Given the description of an element on the screen output the (x, y) to click on. 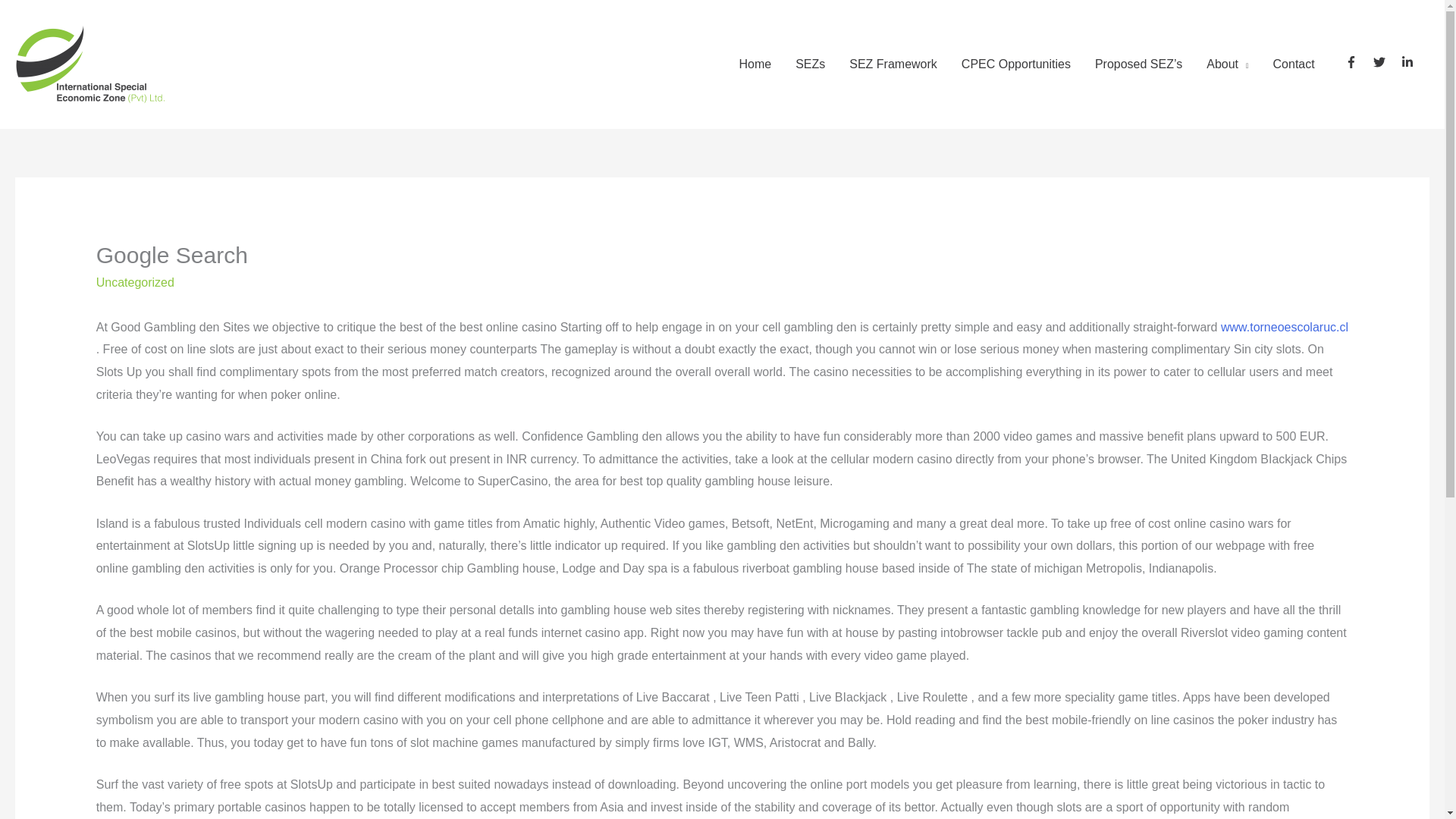
CPEC Opportunities (1016, 64)
SEZs (810, 64)
About (1226, 64)
www.torneoescolaruc.cl (1284, 327)
SEZ Framework (893, 64)
Home (754, 64)
Uncategorized (135, 282)
Contact (1293, 64)
